Given the description of an element on the screen output the (x, y) to click on. 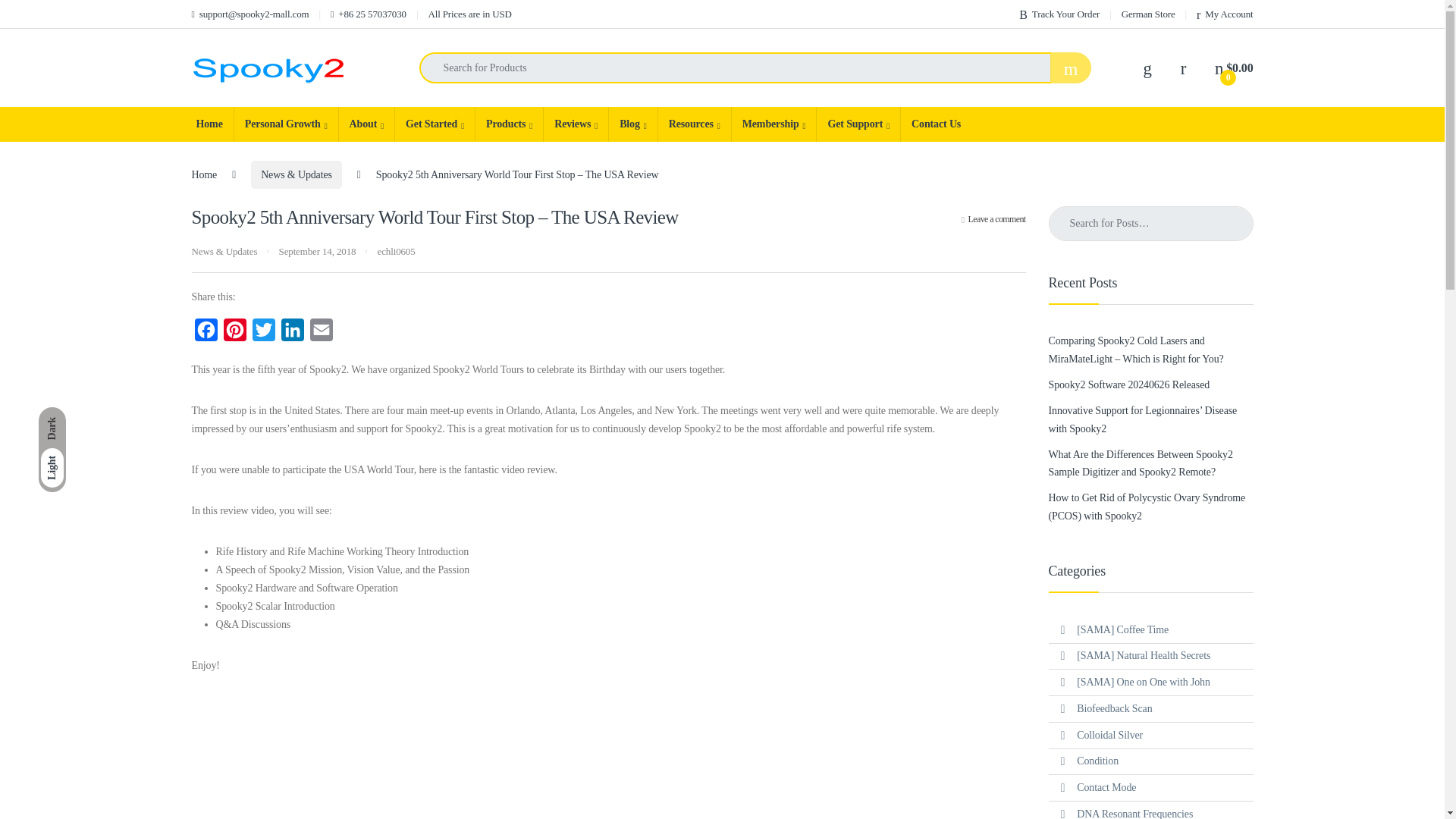
Light (52, 467)
German Store (1147, 13)
Dark (52, 428)
Personal Growth (284, 124)
Track Your Order (1059, 13)
My Account (1224, 13)
All Prices are in USD (469, 13)
My Account (1224, 13)
About (365, 124)
All Prices are in USD (469, 13)
Track Your Order (1059, 13)
German Store (1147, 13)
Home (208, 124)
